Given the description of an element on the screen output the (x, y) to click on. 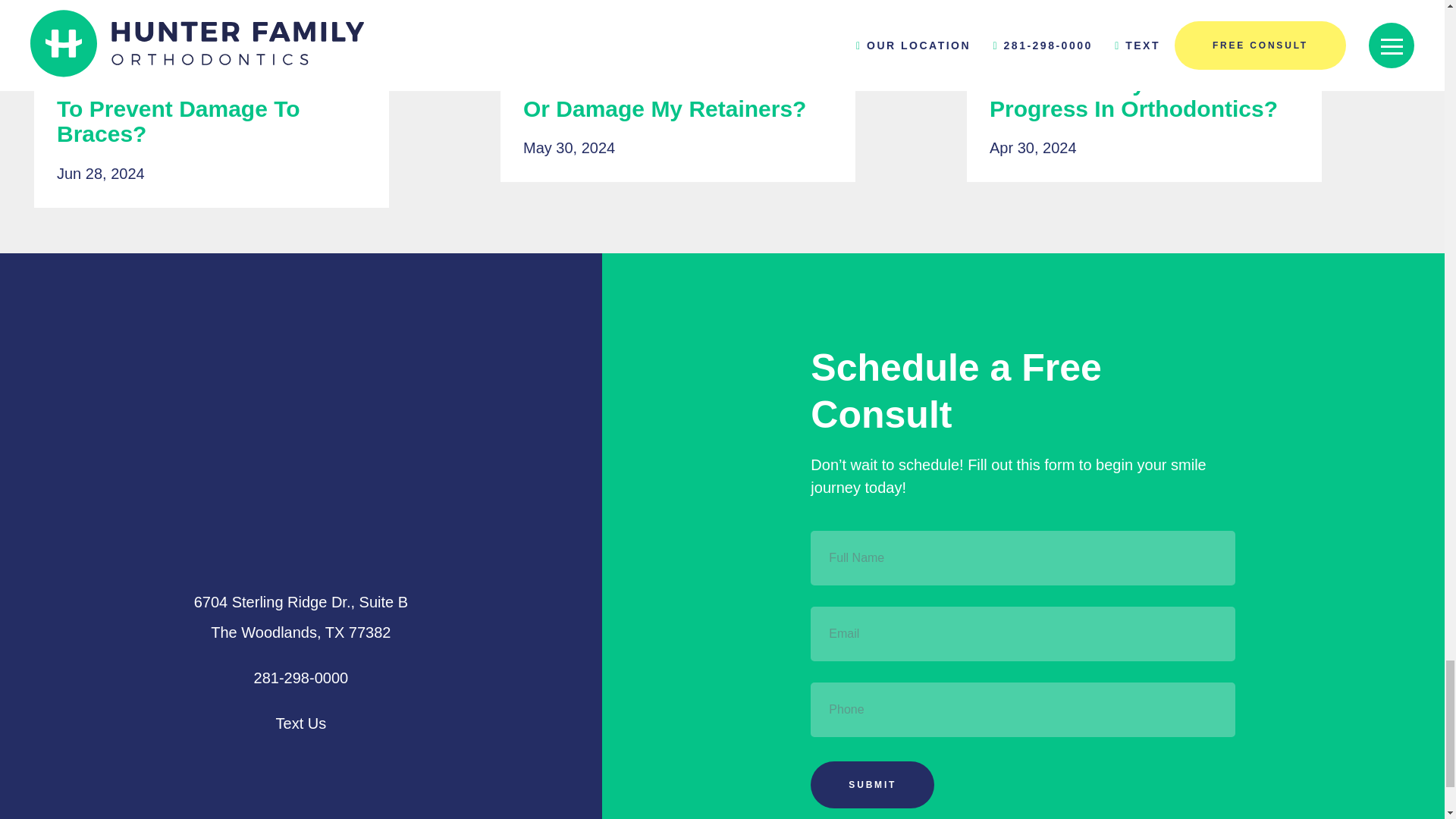
What Should I Do If I Lose Or Damage My Retainers? (721, 42)
How Do X-Rays Track Progress In Orthodontics? (1144, 96)
Which Foods Should I Avoid To Prevent Damage To Braces? (255, 42)
Which Foods Should I Avoid To Prevent Damage To Braces? (211, 108)
How Do X-Rays Track Progress In Orthodontics? (1188, 42)
Submit (872, 784)
What Should I Do If I Lose Or Damage My Retainers? (677, 96)
